Given the description of an element on the screen output the (x, y) to click on. 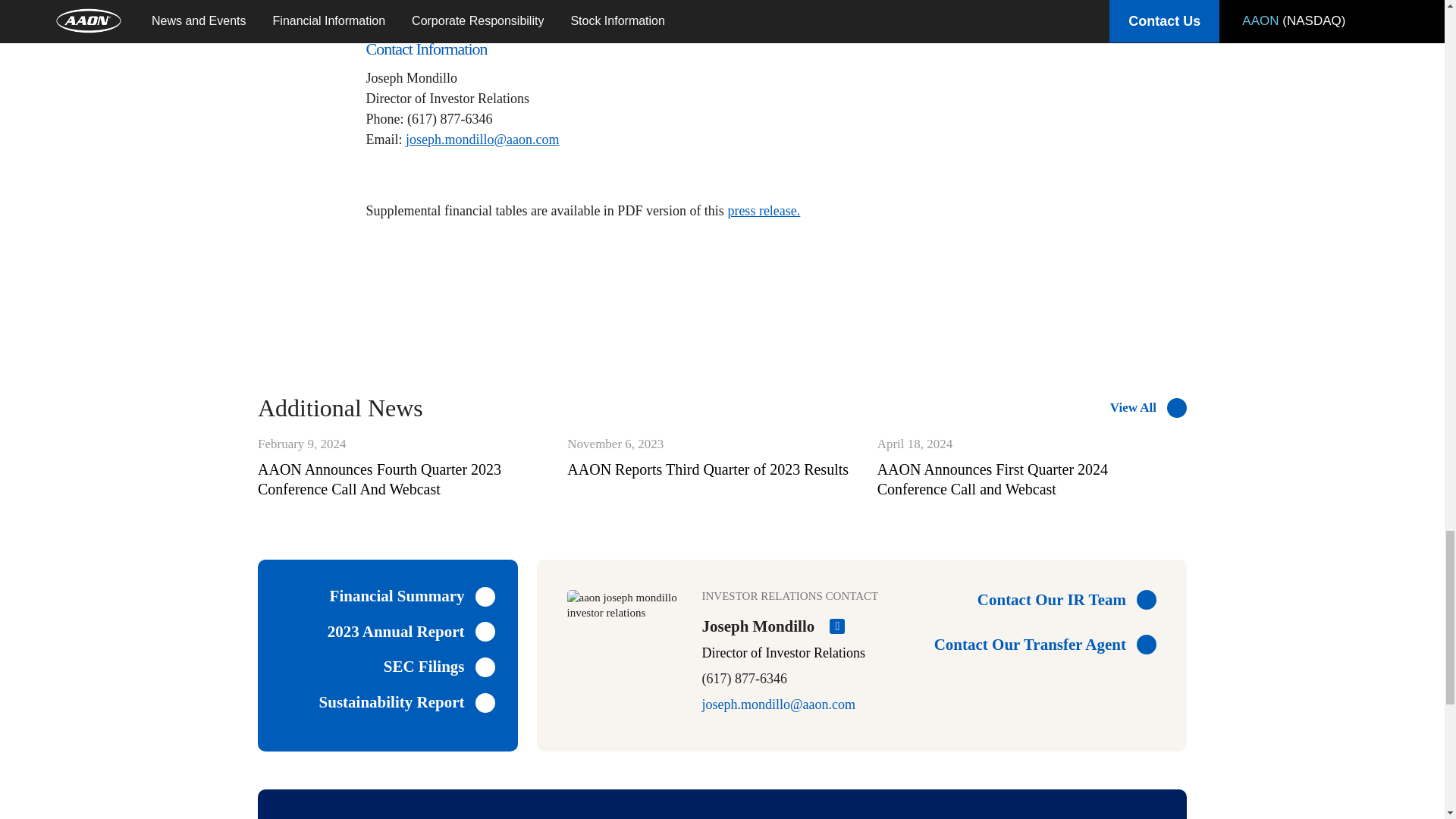
Contact Our IR Team (1038, 599)
press release. (762, 210)
Financial Summary (412, 596)
View All (1147, 407)
Sustainability Report (406, 701)
Contact Our Transfer Agent (1038, 644)
2023 Annual Report (714, 457)
SEC Filings (411, 631)
